Given the description of an element on the screen output the (x, y) to click on. 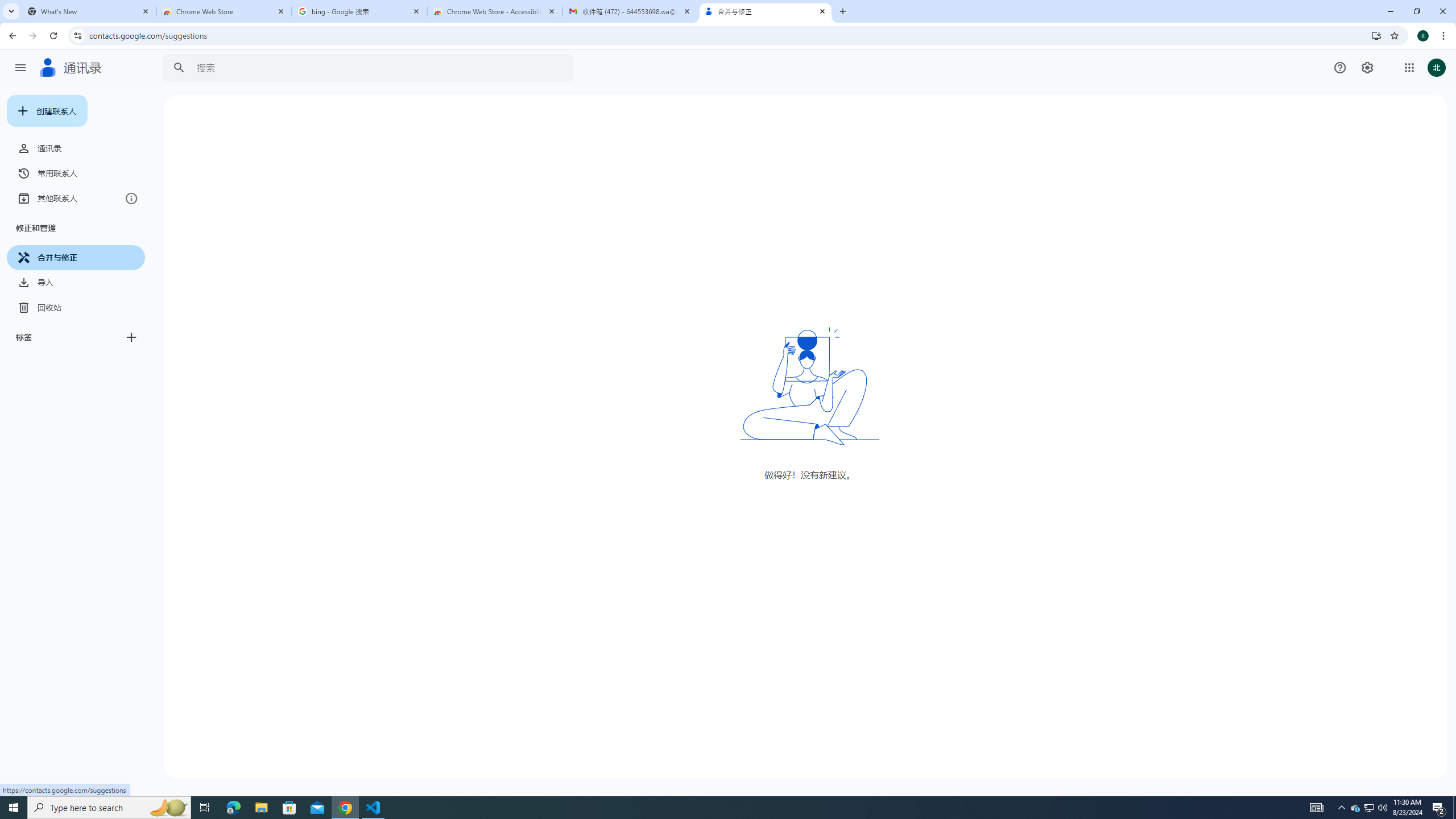
What's New (88, 11)
